Given the description of an element on the screen output the (x, y) to click on. 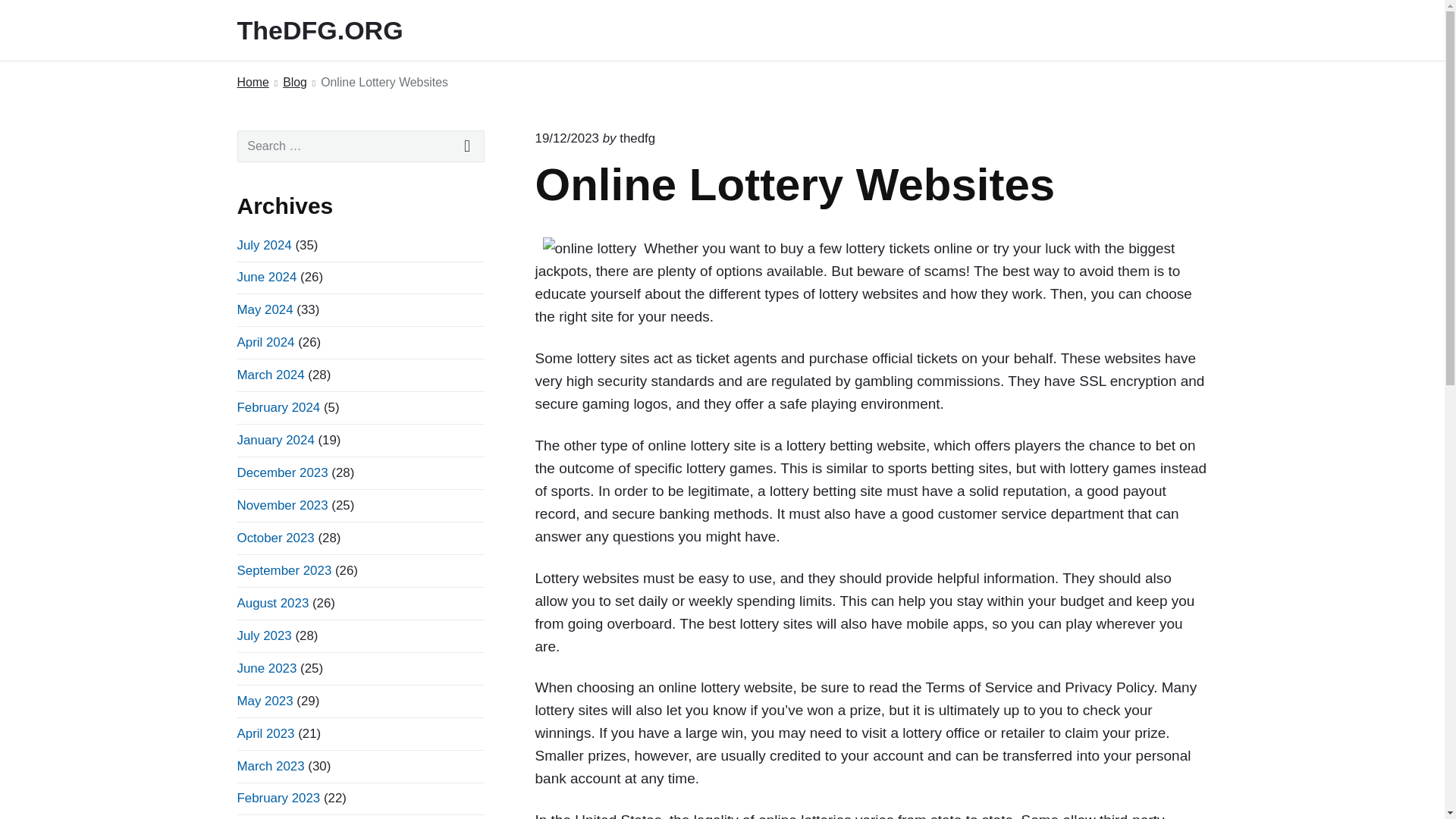
SEARCH (466, 146)
May 2024 (263, 309)
TheDFG.ORG (339, 30)
July 2024 (263, 245)
thedfg (637, 138)
May 2023 (263, 700)
January 2024 (274, 440)
March 2024 (269, 374)
March 2023 (269, 766)
June 2023 (266, 667)
September 2023 (283, 570)
April 2023 (264, 733)
July 2023 (263, 635)
November 2023 (281, 504)
August 2023 (271, 603)
